Given the description of an element on the screen output the (x, y) to click on. 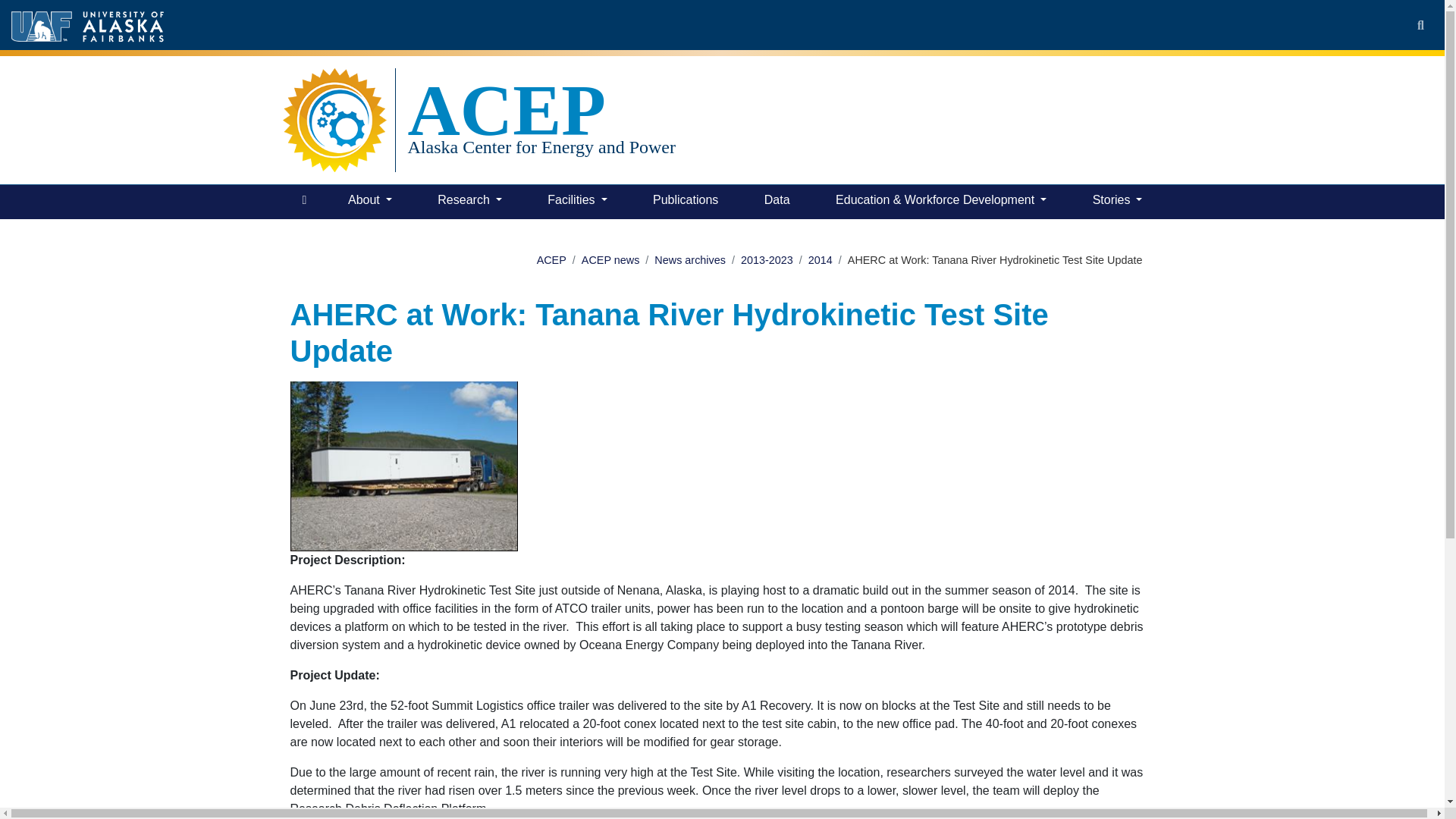
ACEP (541, 109)
Data (777, 202)
Facilities (576, 202)
Research (468, 202)
Publications (684, 202)
Stories (1117, 202)
About (369, 202)
